Given the description of an element on the screen output the (x, y) to click on. 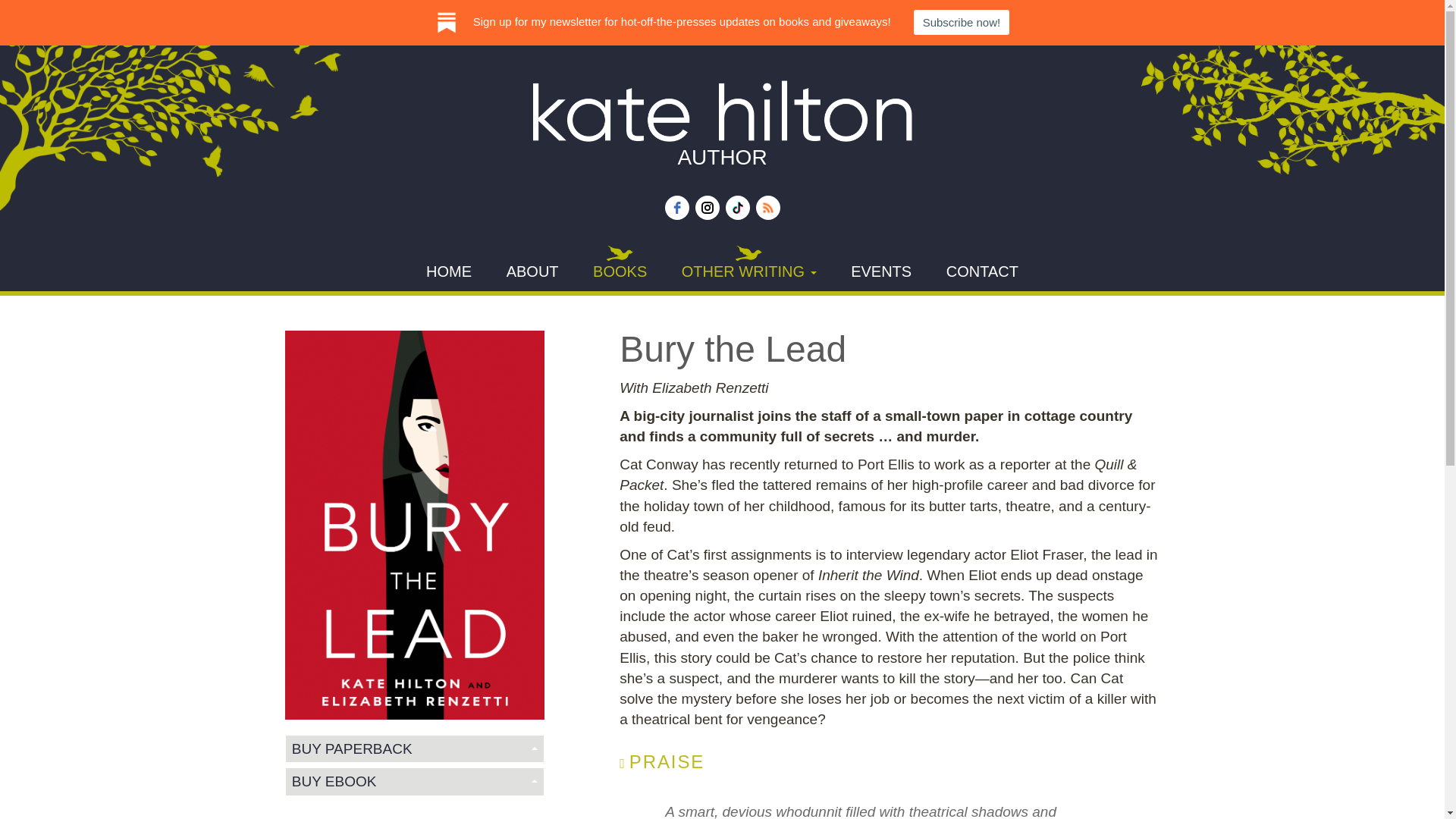
Books (620, 268)
Other Writing (748, 268)
Events (880, 268)
BUY PAPERBACK (414, 748)
BUY EBOOK (414, 781)
EVENTS (880, 268)
CONTACT (982, 268)
BOOKS (620, 268)
Home (448, 268)
Contact (982, 268)
ABOUT (532, 268)
About (532, 268)
HOME (448, 268)
Subscribe now! (962, 22)
OTHER WRITING (748, 268)
